Given the description of an element on the screen output the (x, y) to click on. 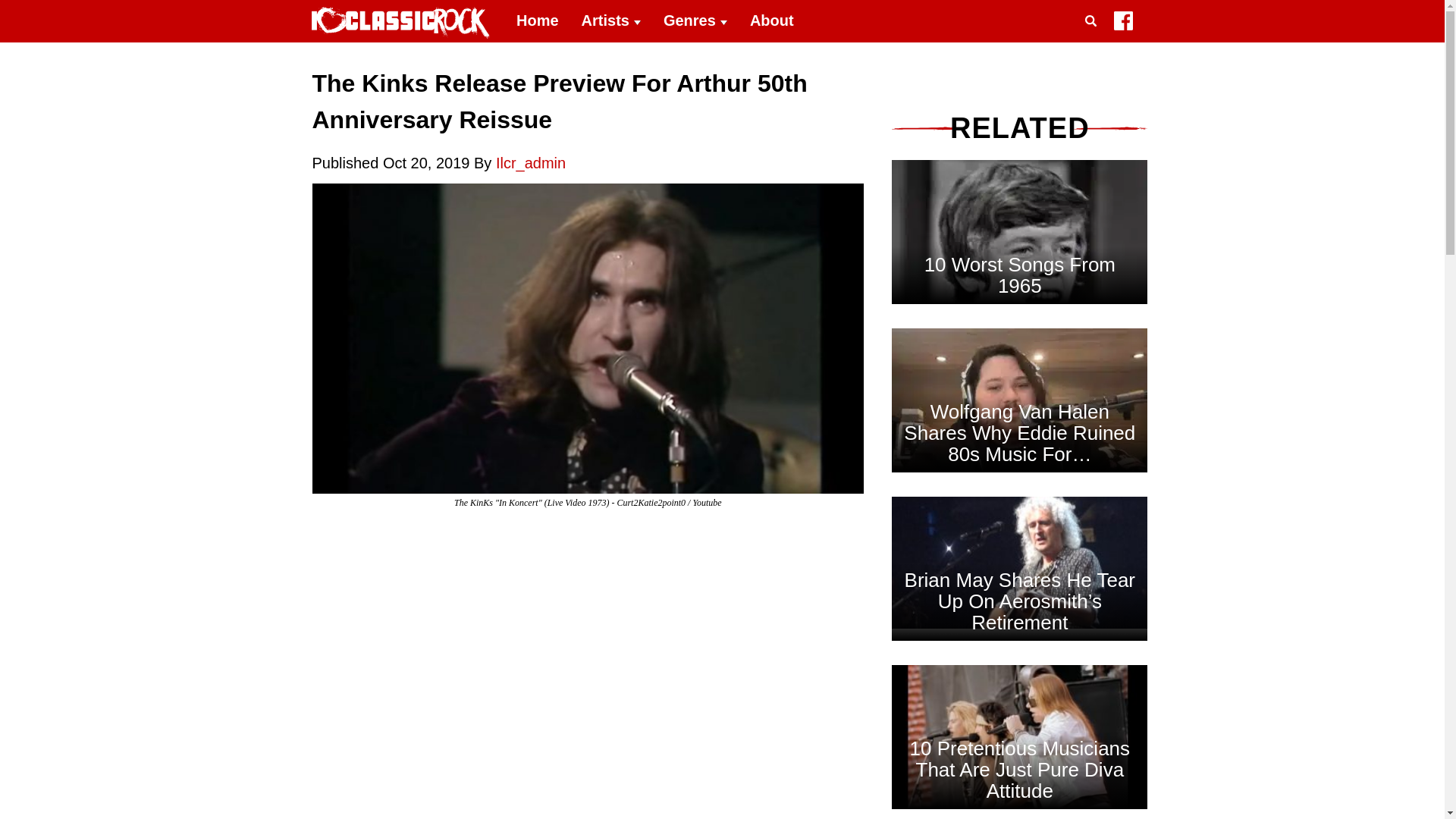
Genres (695, 21)
Artists (611, 21)
Home (537, 21)
Search (1093, 39)
10 Worst Songs From 1965 (1019, 324)
About (771, 21)
Search (1093, 39)
I Love Classic Rock on Facebook (1122, 24)
